Given the description of an element on the screen output the (x, y) to click on. 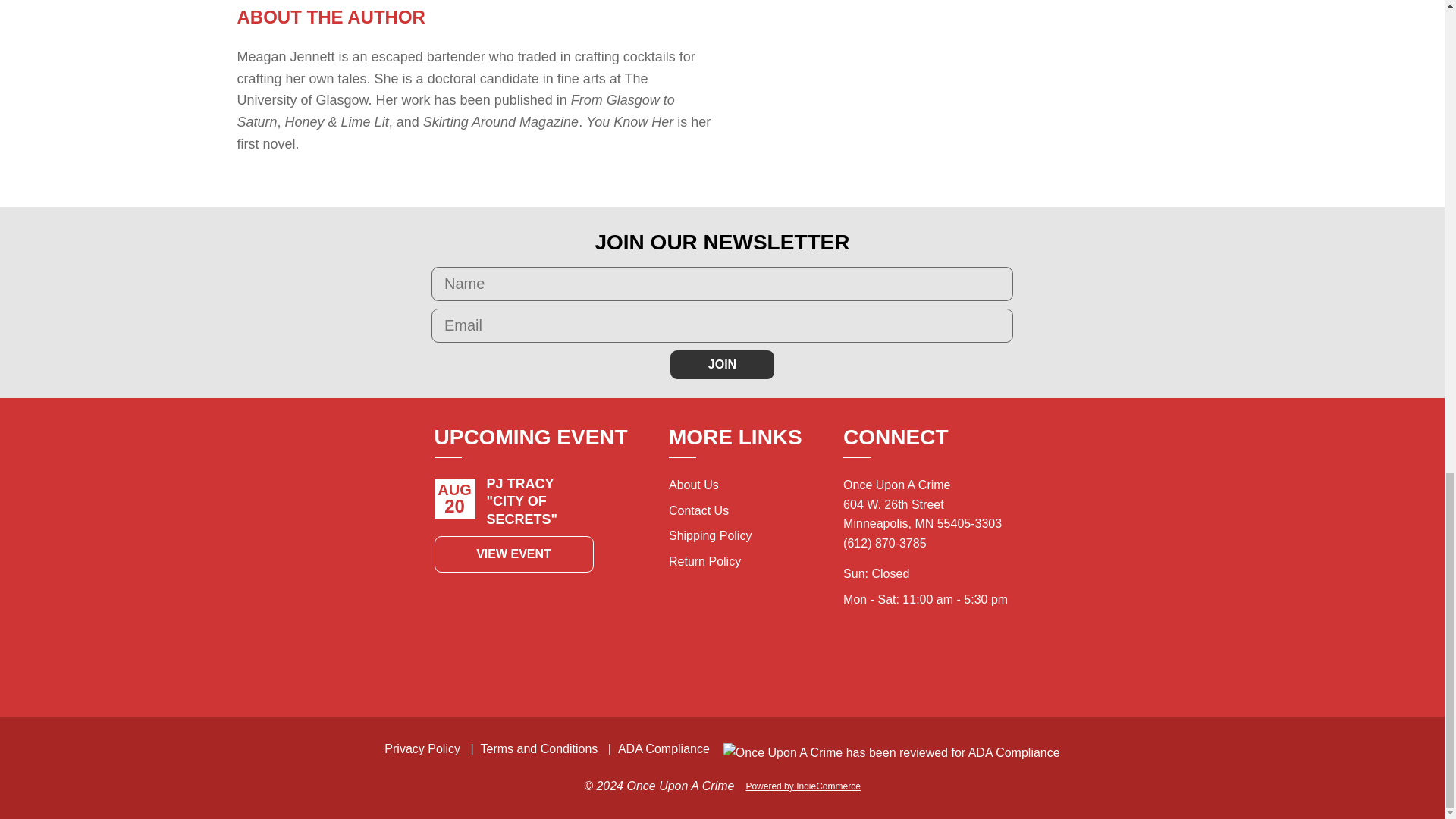
Join (721, 364)
Contact Us (698, 510)
Return Policy (704, 561)
Terms and Conditions (539, 748)
Connect with Facebook (909, 663)
VIEW EVENT (512, 554)
ADA Compliance (663, 748)
Shipping Policy (709, 535)
Connect with Instagram (943, 663)
Privacy Policy (422, 748)
